Given the description of an element on the screen output the (x, y) to click on. 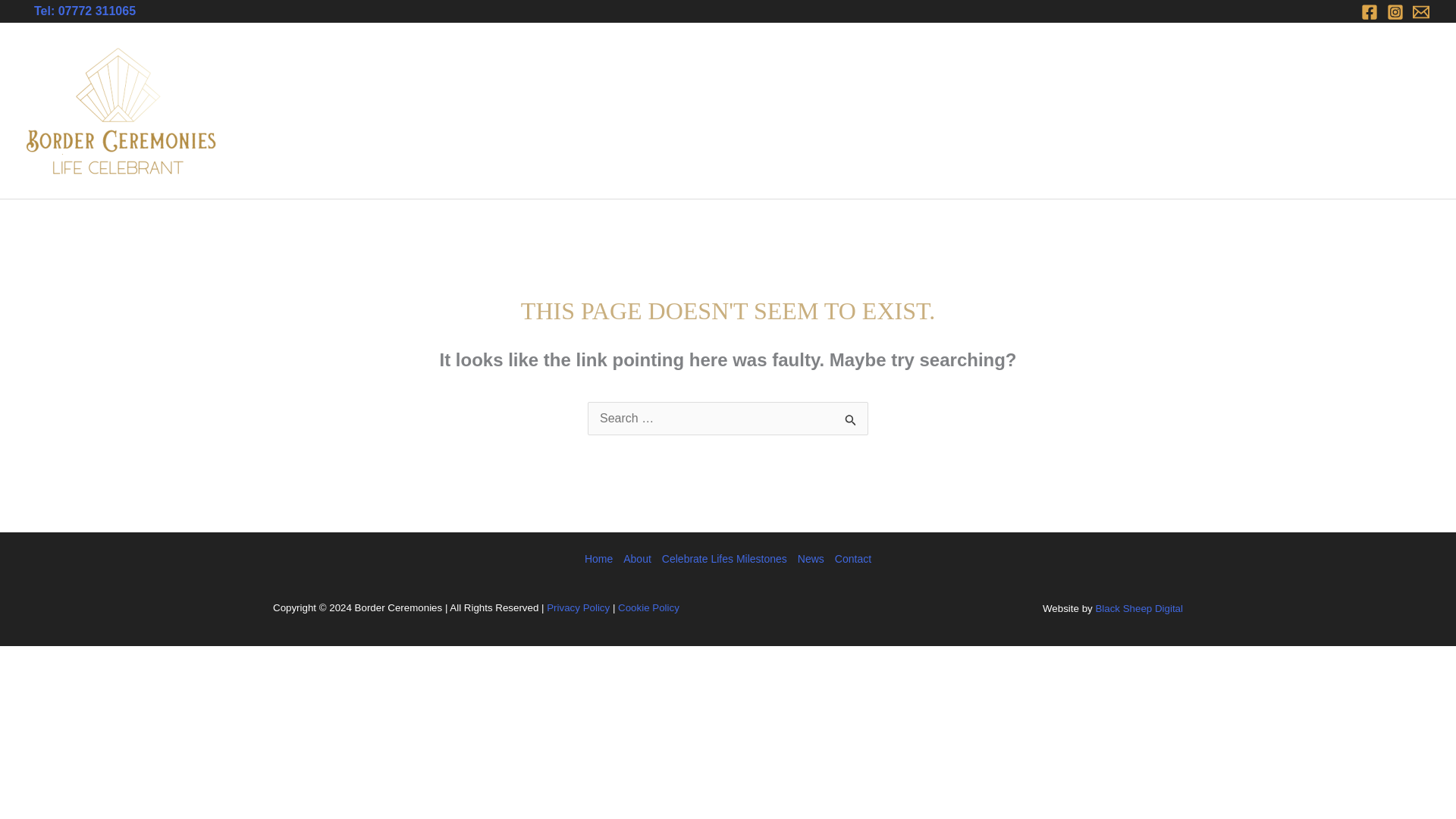
Celebrate Lifes Milestones (1087, 111)
Home (601, 558)
Contact Us (1387, 111)
Book Appointment (1238, 111)
Cookie Policy (648, 607)
Celebrate Lifes Milestones (724, 558)
Contact (849, 558)
Tel: 07772 311065 (84, 10)
Black Sheep Digital (1138, 608)
About (970, 111)
News (810, 558)
Privacy Policy (578, 607)
About (636, 558)
Home (915, 111)
